Given the description of an element on the screen output the (x, y) to click on. 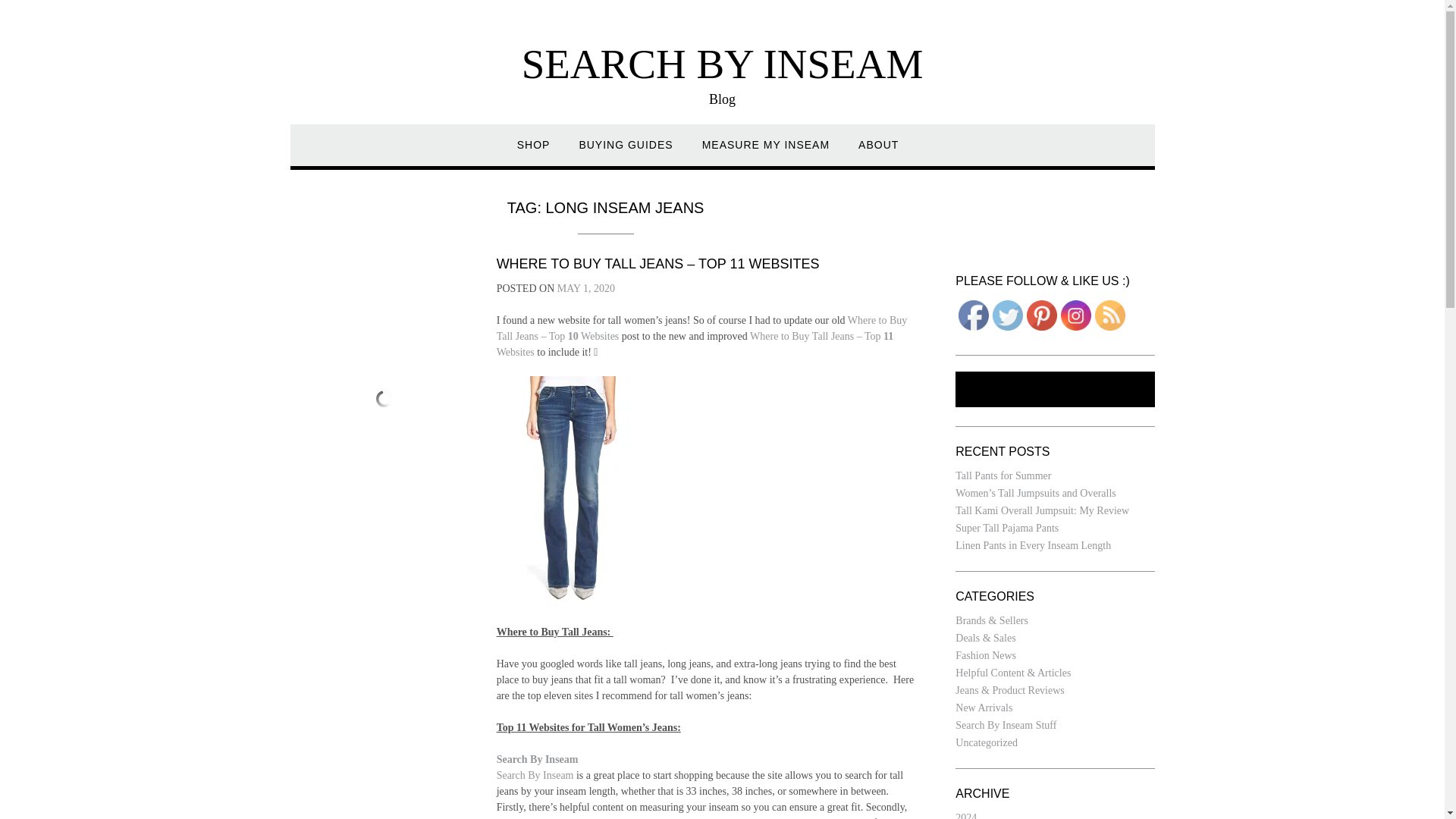
Facebook (973, 315)
ABOUT (878, 152)
Search By Inseam (534, 775)
Twitter (1007, 315)
MAY 1, 2020 (585, 288)
BUYING GUIDES (625, 152)
SEARCH BY INSEAM (722, 63)
Pinterest (1041, 315)
Newsletter Sign-up (1054, 389)
Instagram (1075, 315)
RSS (1109, 315)
Search By Inseam (537, 758)
SEARCH BY INSEAM (722, 63)
MEASURE MY INSEAM (765, 152)
SHOP (533, 152)
